Given the description of an element on the screen output the (x, y) to click on. 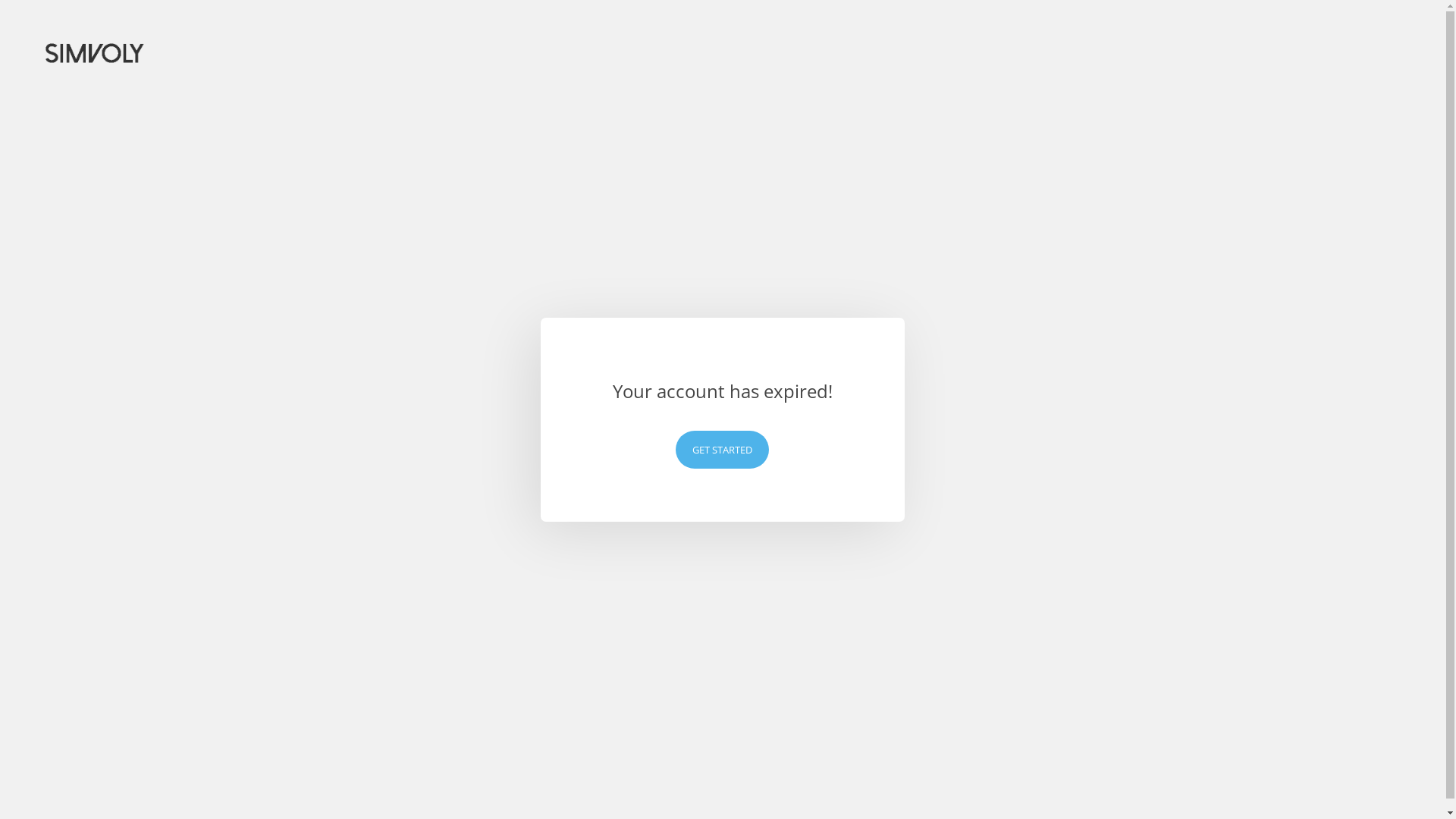
GET STARTED Element type: text (721, 449)
